Given the description of an element on the screen output the (x, y) to click on. 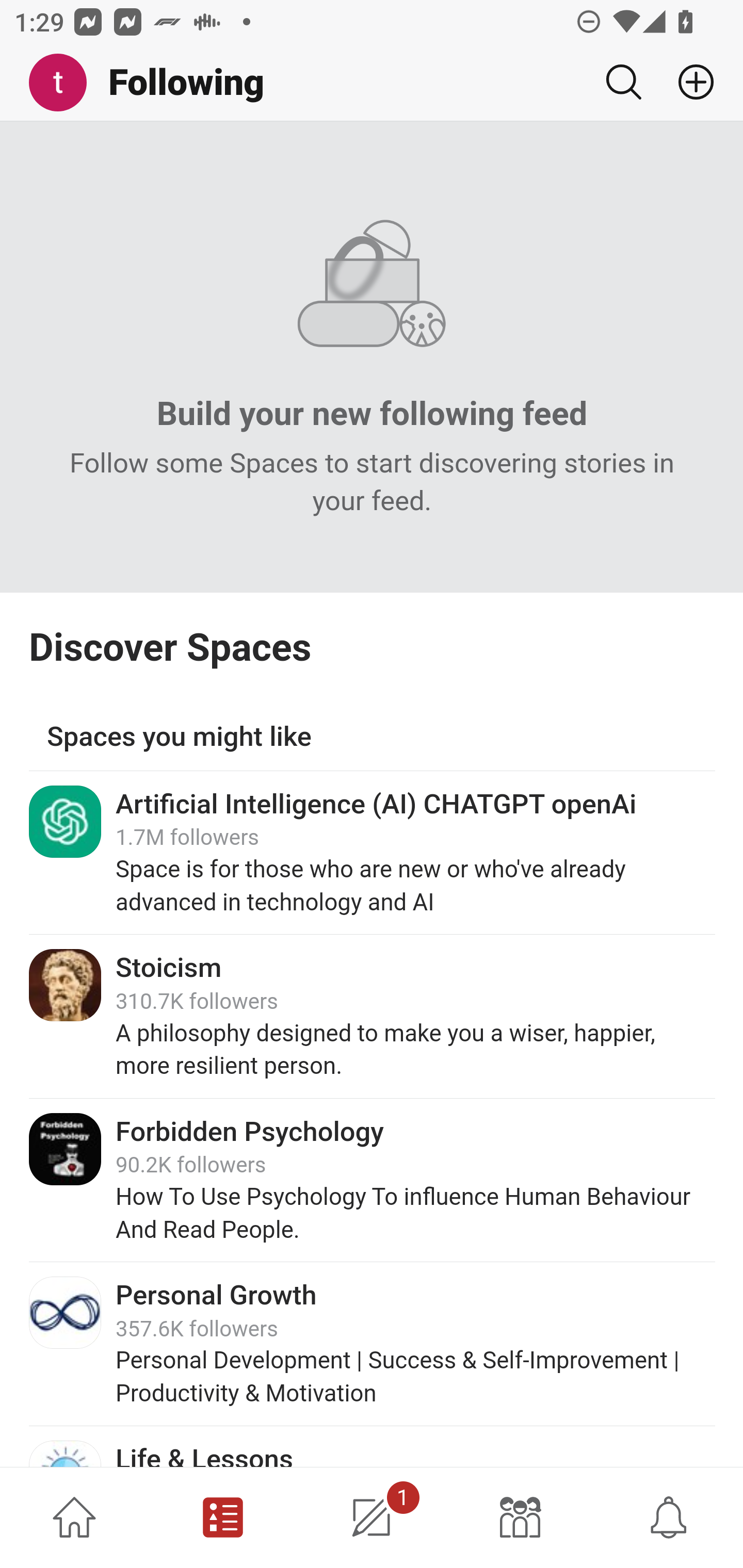
Me Following Search Add (371, 82)
Me (64, 83)
Search (623, 82)
Add (688, 82)
1 (371, 1517)
